Given the description of an element on the screen output the (x, y) to click on. 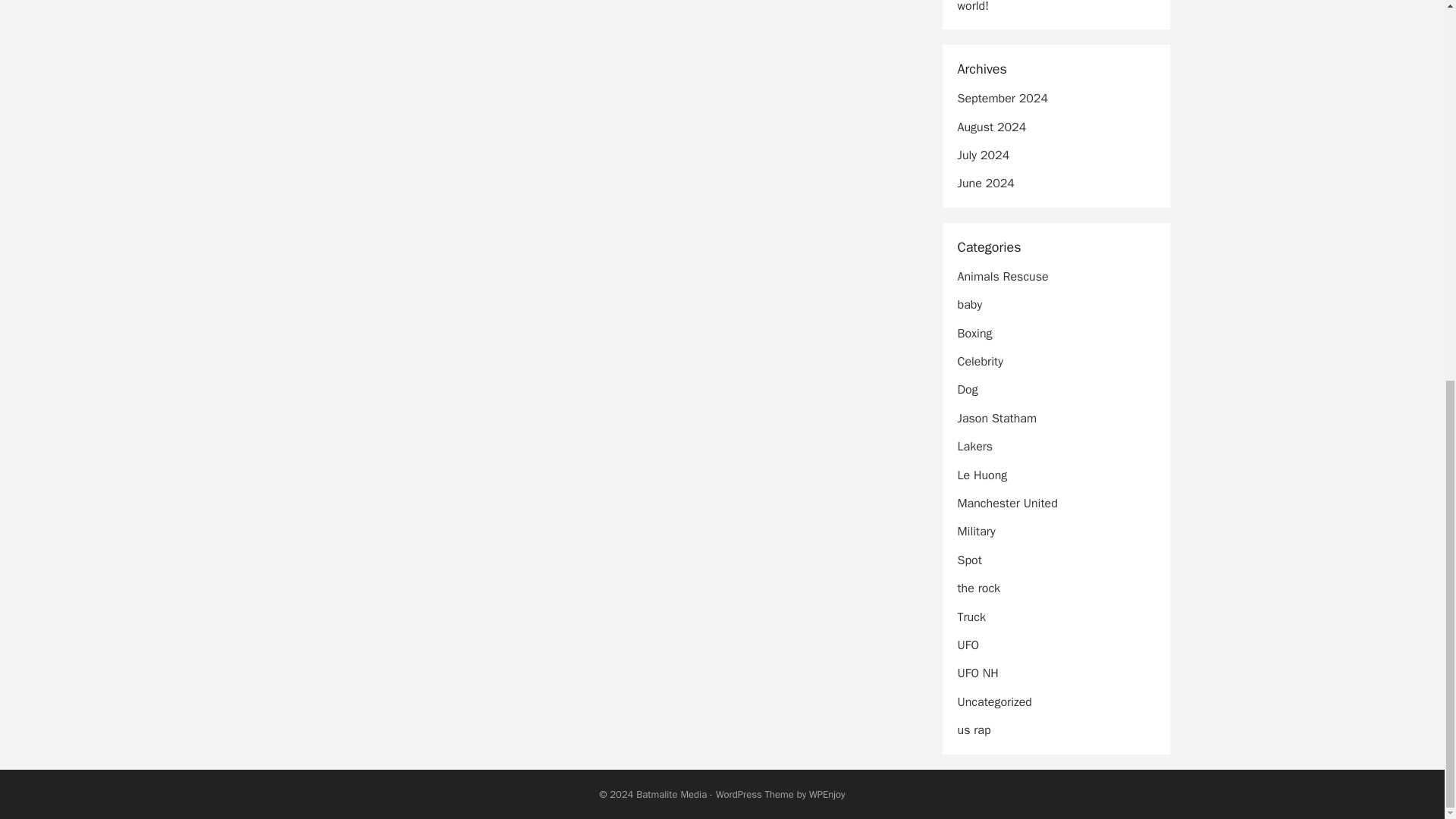
Boxing (973, 333)
Celebrity (979, 361)
Jason Statham (995, 418)
Animals Rescuse (1002, 276)
Le Huong (981, 475)
Lakers (974, 446)
July 2024 (982, 155)
Dog (966, 389)
Manchester United (1006, 503)
August 2024 (991, 127)
